Given the description of an element on the screen output the (x, y) to click on. 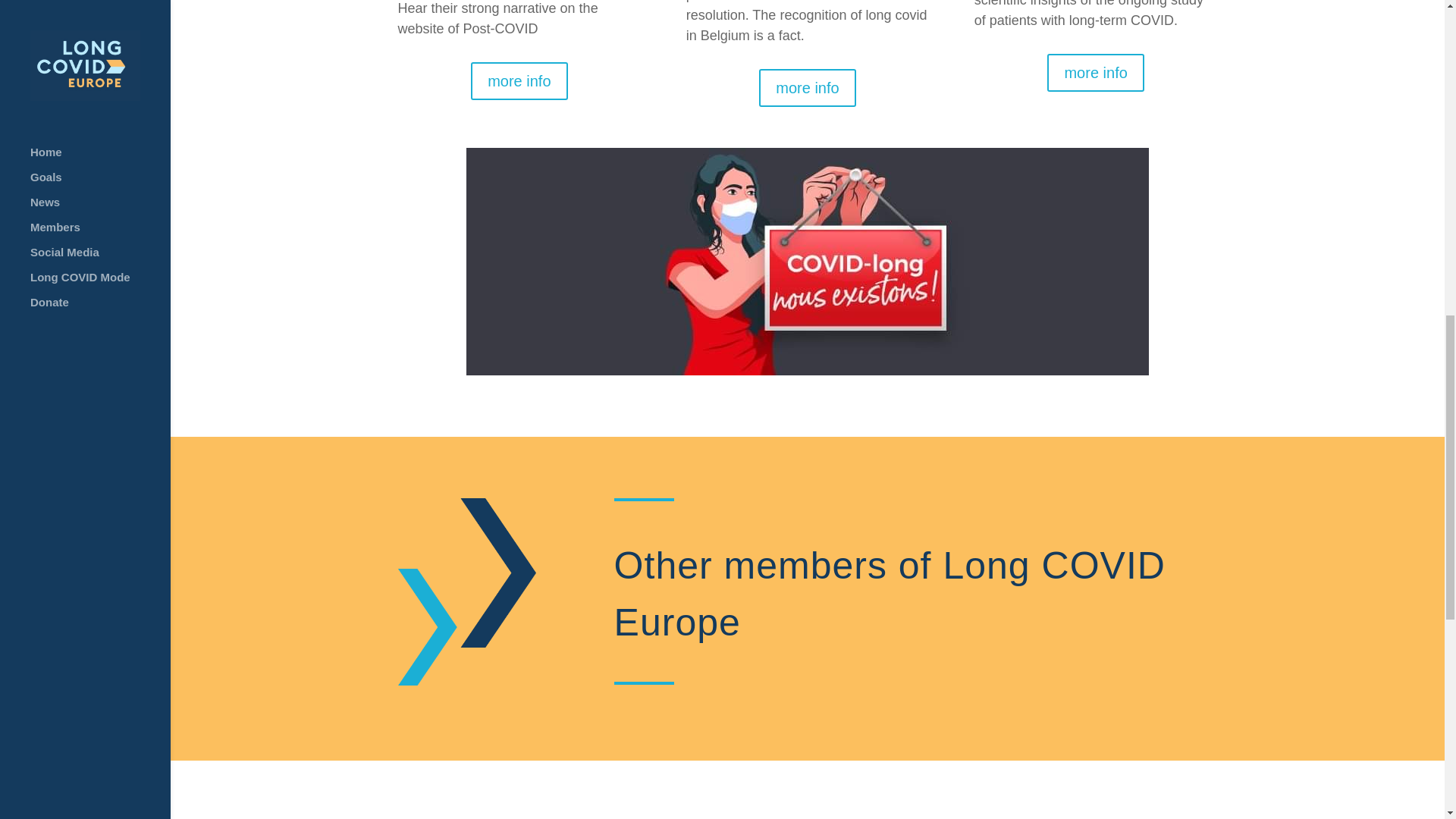
more info (518, 80)
more info (1094, 72)
more info (807, 87)
